Given the description of an element on the screen output the (x, y) to click on. 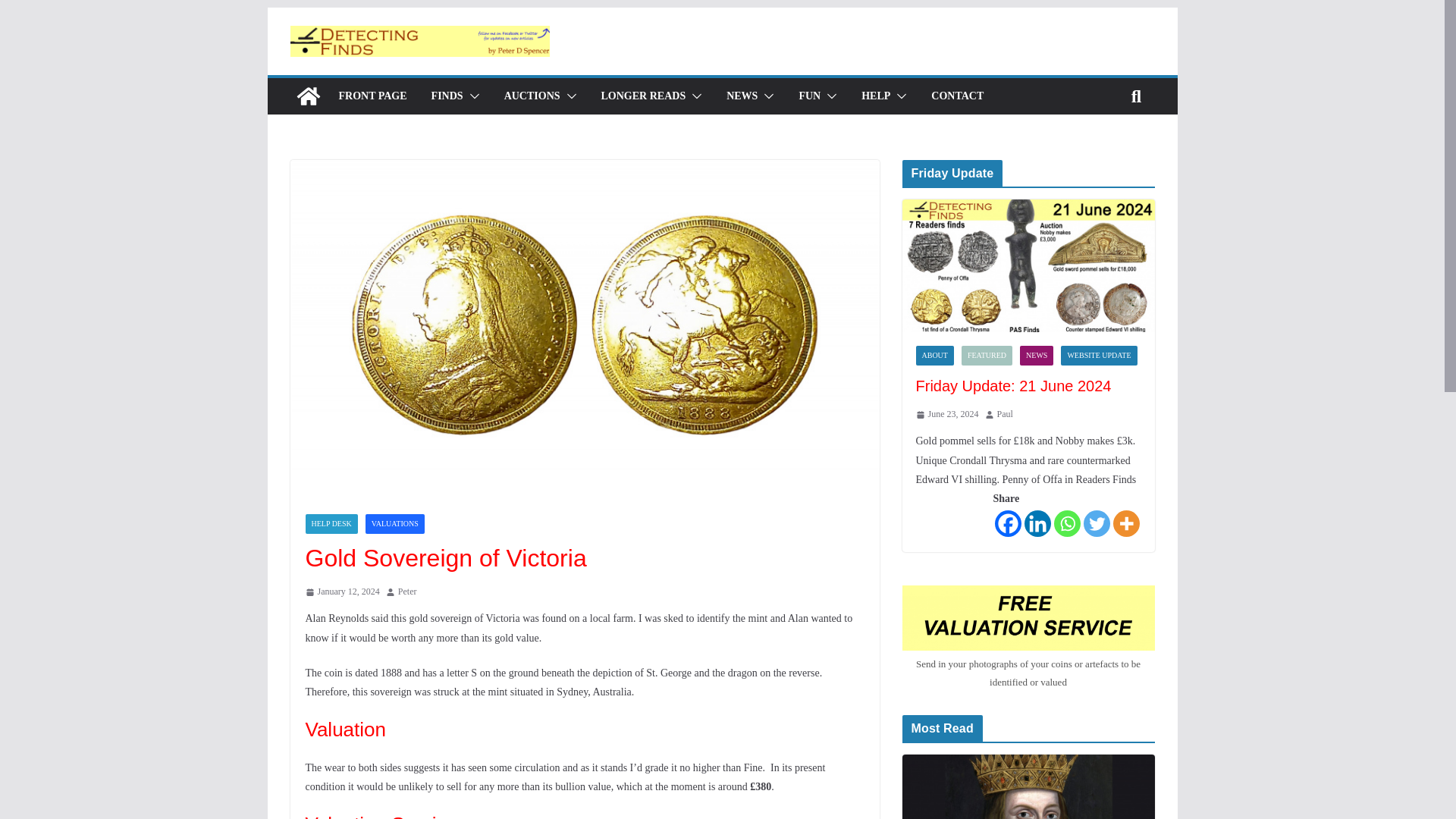
FRONT PAGE (371, 96)
HELP (875, 96)
3:59 pm (341, 591)
Peter (406, 591)
FUN (809, 96)
HELP DESK (330, 523)
LONGER READS (643, 96)
FINDS (446, 96)
NEWS (741, 96)
CONTACT (957, 96)
